Given the description of an element on the screen output the (x, y) to click on. 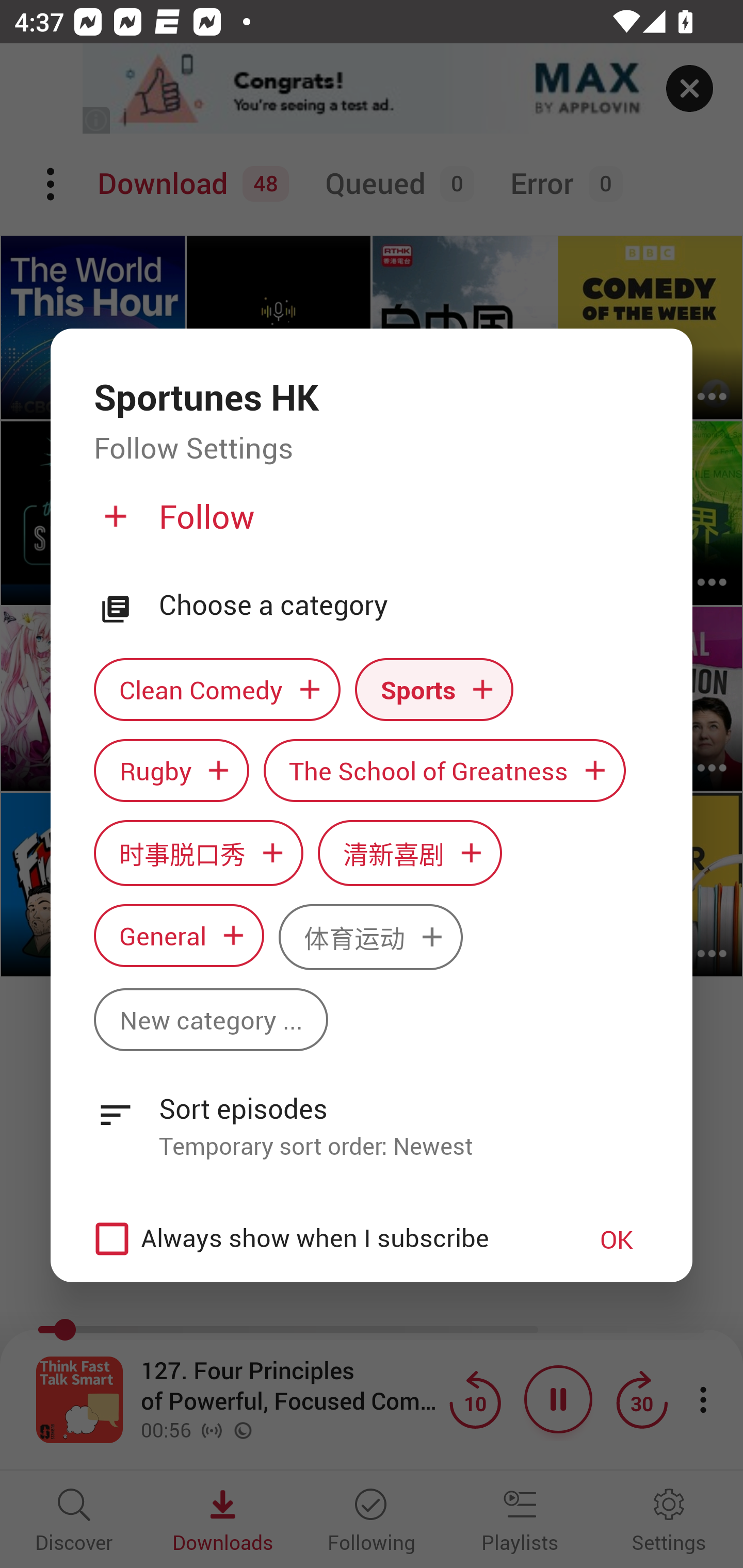
Follow (369, 525)
Choose a category (404, 604)
Clean Comedy (216, 689)
Sports (434, 689)
Rugby (170, 770)
The School of Greatness (444, 770)
时事脱口秀 (198, 852)
清新喜剧 (410, 852)
General (178, 935)
体育运动 (370, 937)
New category ... (210, 1018)
Sort episodes Temporary sort order: Newest (371, 1116)
OK (616, 1238)
Always show when I subscribe (320, 1239)
